Given the description of an element on the screen output the (x, y) to click on. 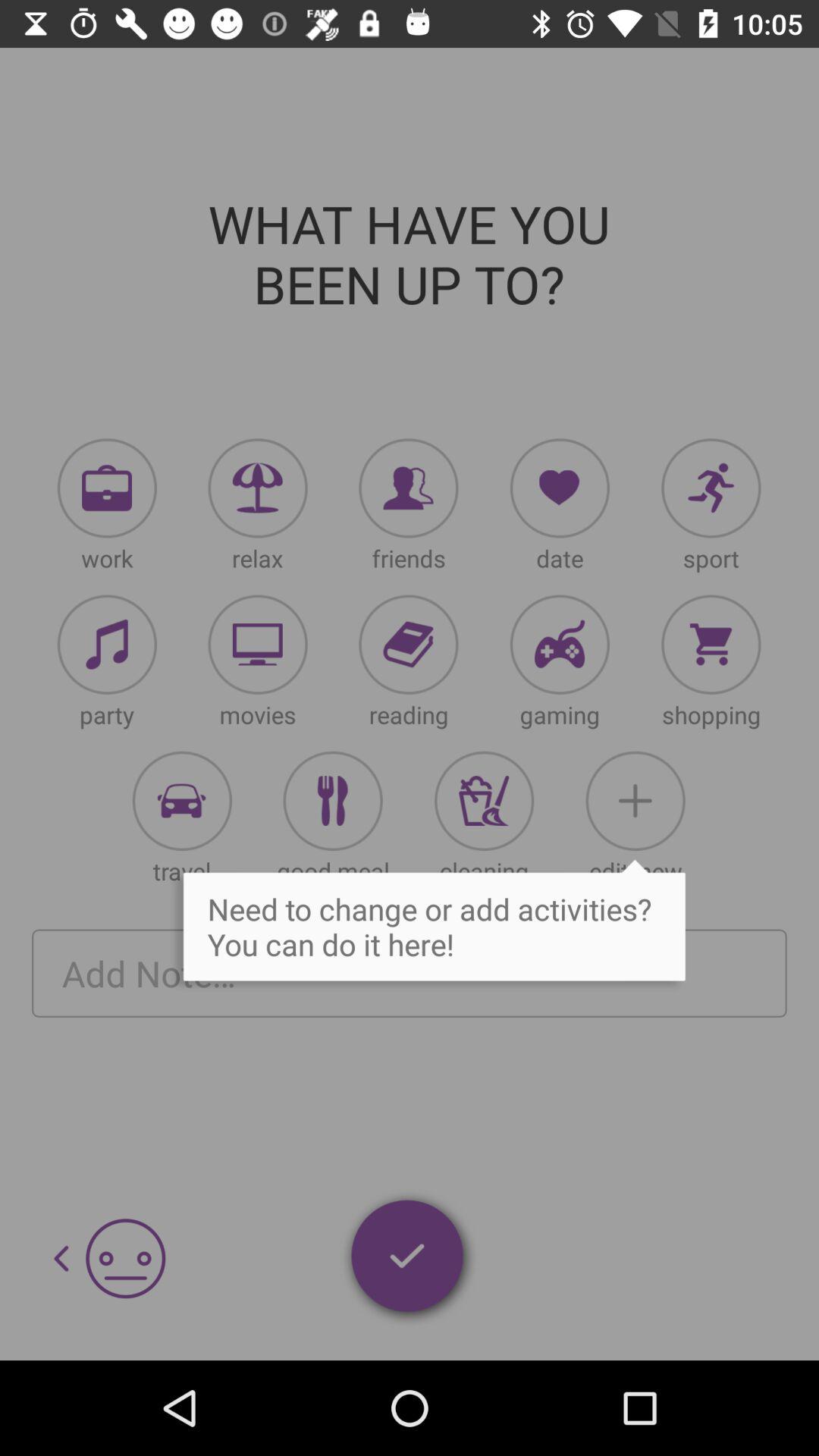
cleaning (484, 800)
